Given the description of an element on the screen output the (x, y) to click on. 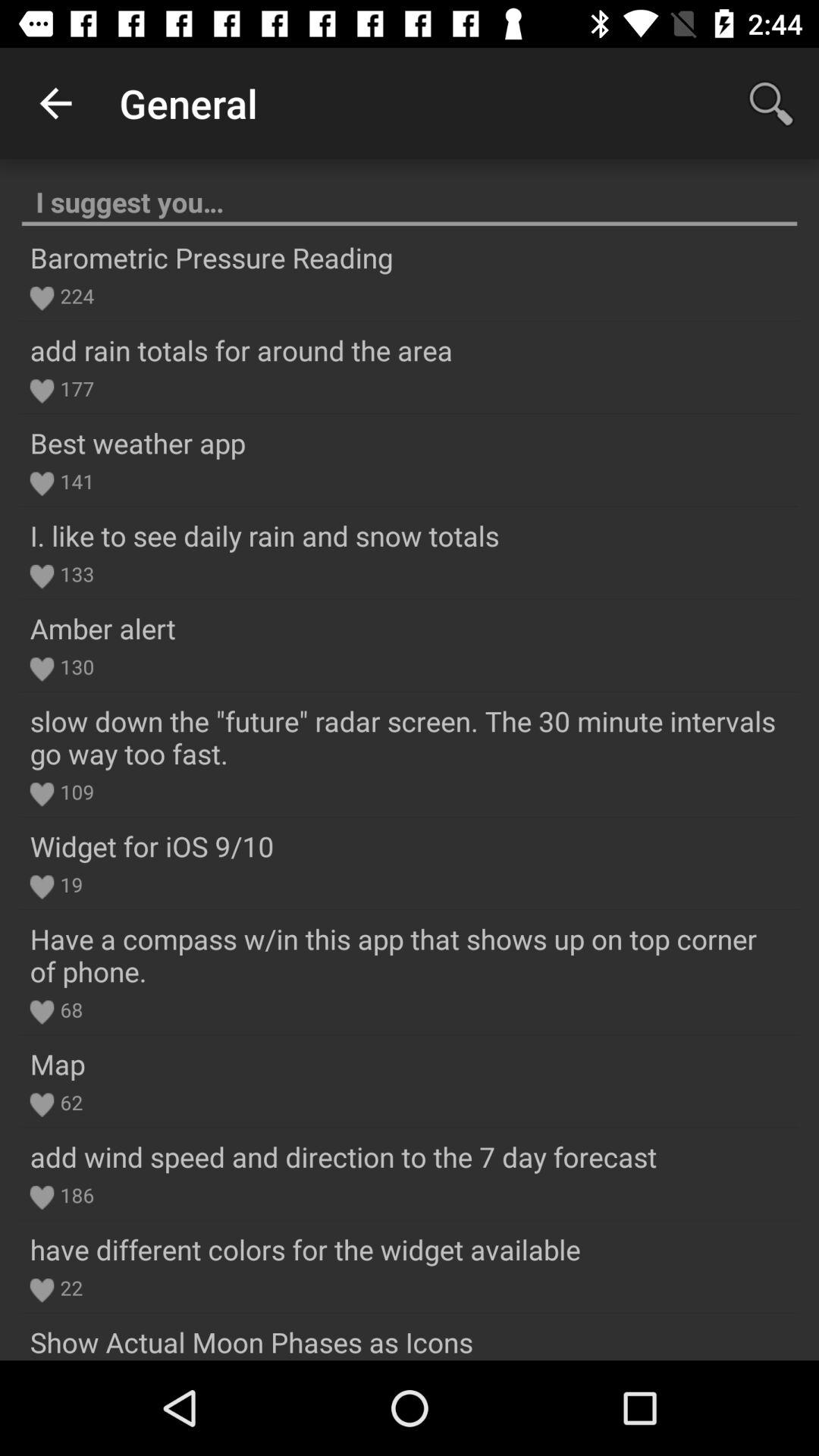
turn off the item at the top right corner (771, 103)
